Given the description of an element on the screen output the (x, y) to click on. 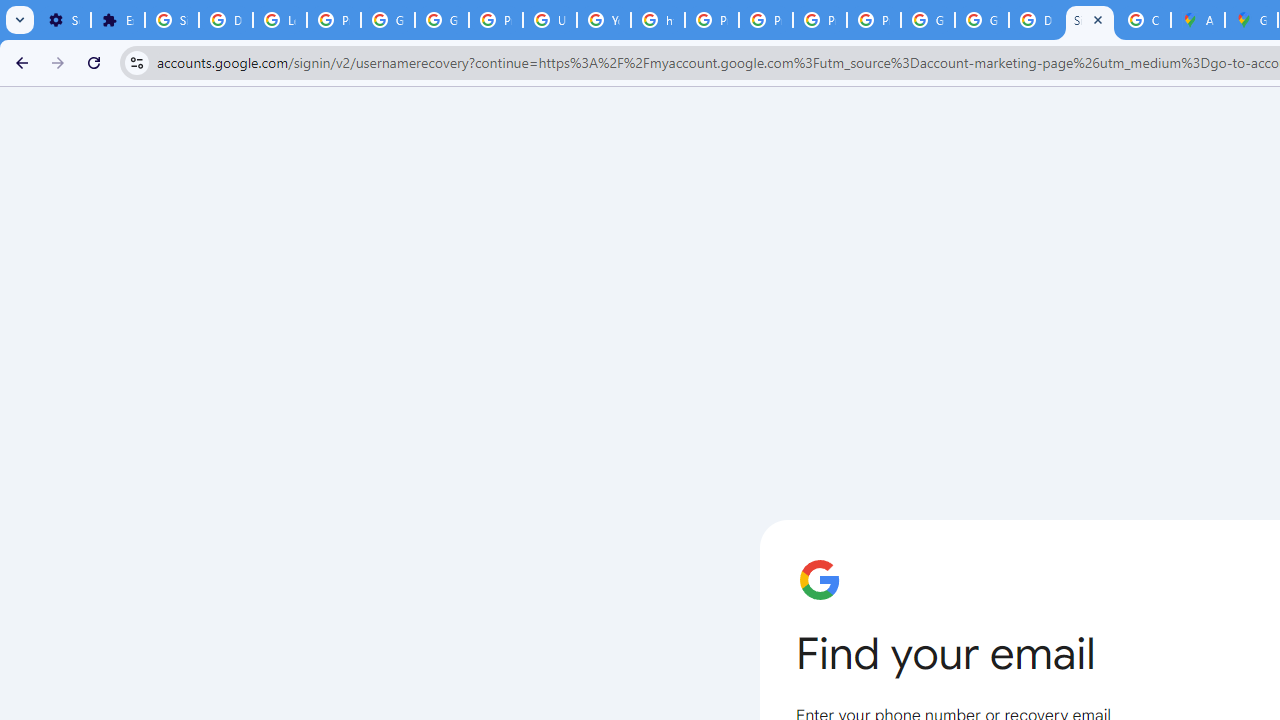
Privacy Help Center - Policies Help (711, 20)
https://scholar.google.com/ (657, 20)
Sign in - Google Accounts (1089, 20)
Create your Google Account (1144, 20)
